Given the description of an element on the screen output the (x, y) to click on. 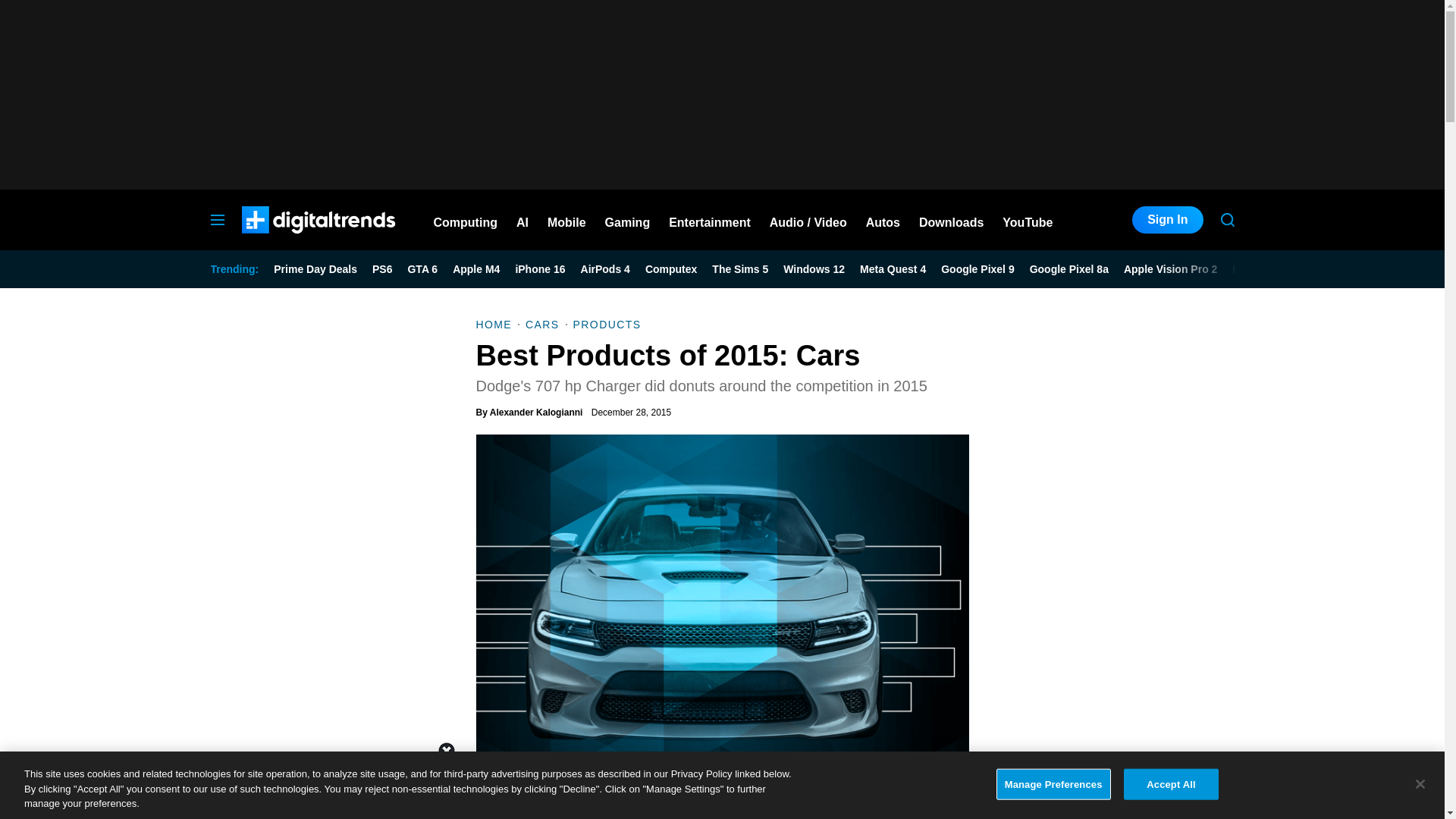
Entertainment (709, 219)
3rd party ad content (721, 785)
Computing (465, 219)
3rd party ad content (1120, 661)
Sign In (1167, 219)
Downloads (951, 219)
